Given the description of an element on the screen output the (x, y) to click on. 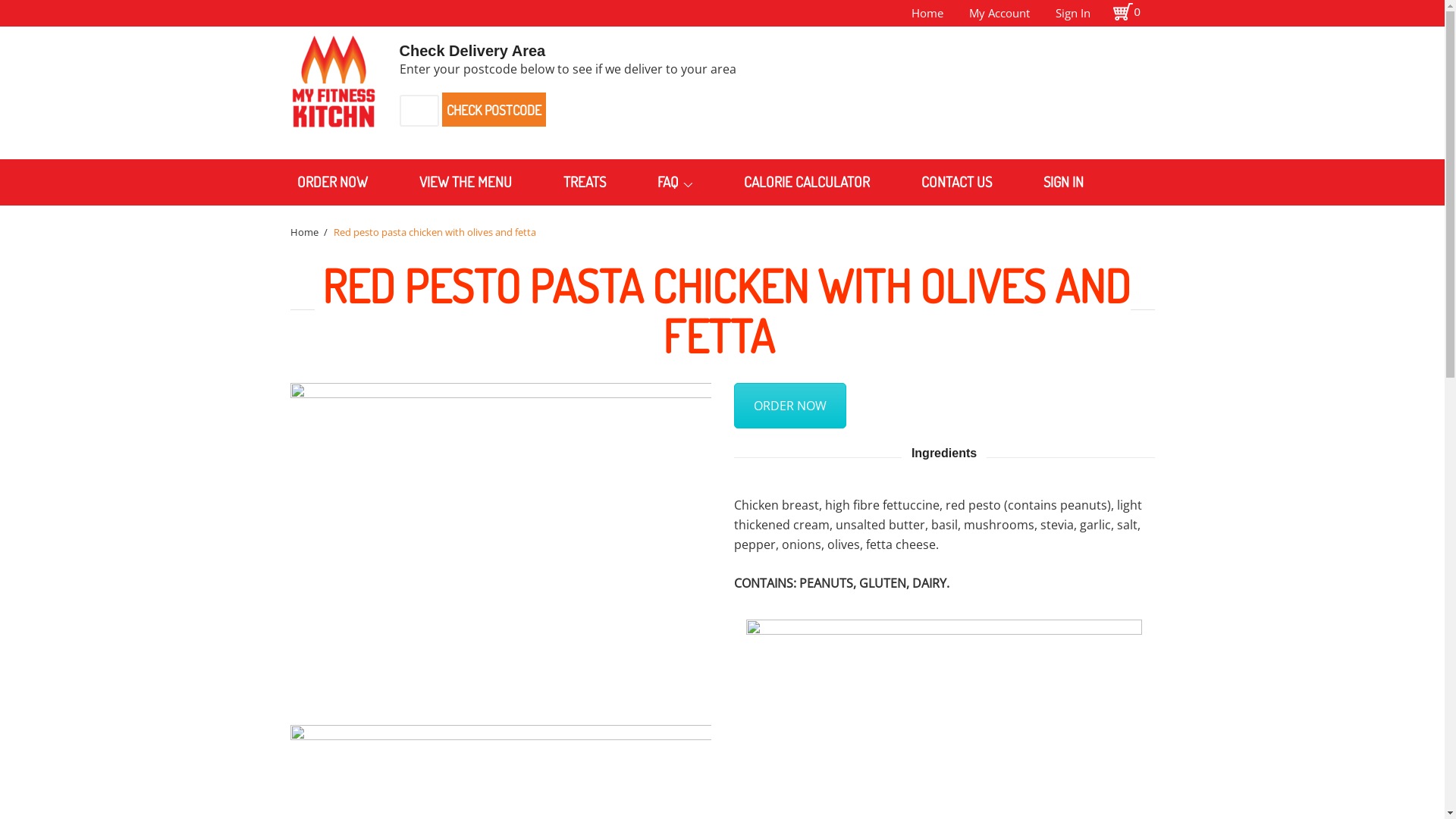
CHECK POSTCODE Element type: text (493, 109)
CALORIE CALCULATOR Element type: text (806, 182)
VIEW THE MENU Element type: text (465, 182)
0 items - $0.00 Element type: text (1133, 14)
SIGN IN Element type: text (1062, 182)
Sign In Element type: text (1072, 12)
CONTACT US Element type: text (956, 182)
Home Element type: text (927, 12)
Home Element type: text (303, 231)
FAQ Element type: text (674, 182)
My Account Element type: text (999, 12)
ORDER NOW Element type: text (790, 405)
TREATS Element type: text (584, 182)
ORDER NOW Element type: text (331, 182)
